Given the description of an element on the screen output the (x, y) to click on. 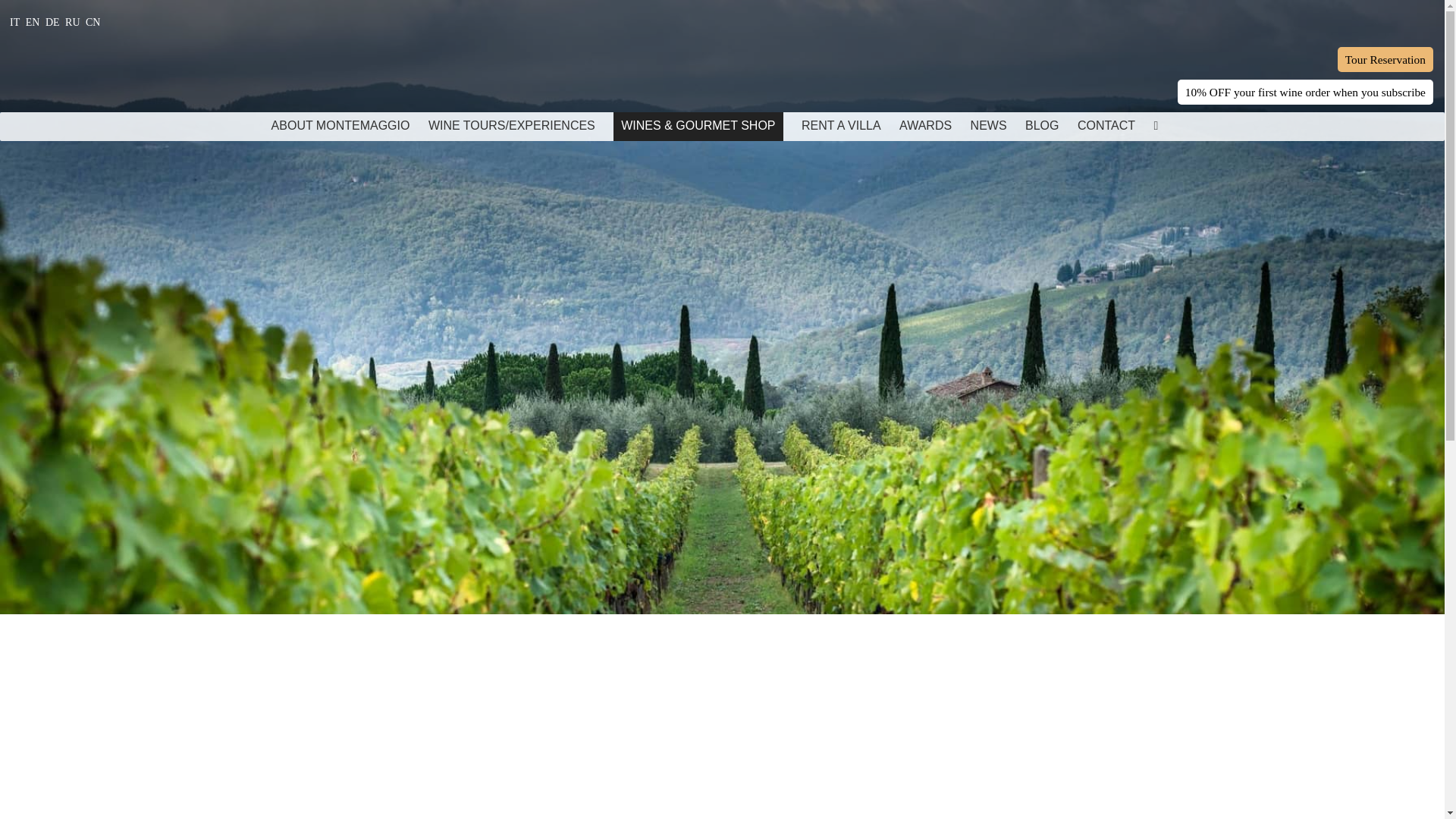
NEWS (989, 126)
CN (92, 21)
BLOG (1041, 126)
ABOUT MONTEMAGGIO (340, 126)
RENT A VILLA (841, 126)
AWARDS (925, 126)
DE (52, 21)
EN (33, 21)
CONTACT (1106, 126)
Tour Reservation (1385, 59)
RU (72, 21)
